Given the description of an element on the screen output the (x, y) to click on. 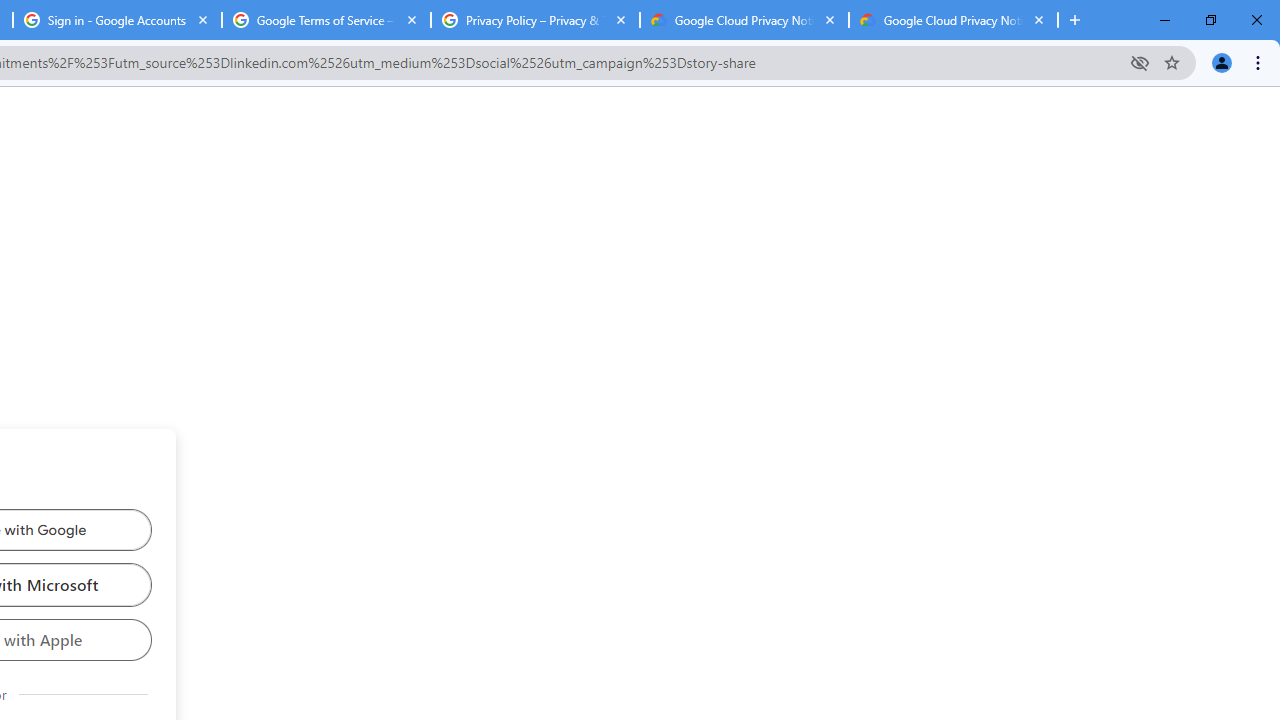
Google Cloud Privacy Notice (744, 20)
Sign in - Google Accounts (116, 20)
Google Cloud Privacy Notice (953, 20)
